Given the description of an element on the screen output the (x, y) to click on. 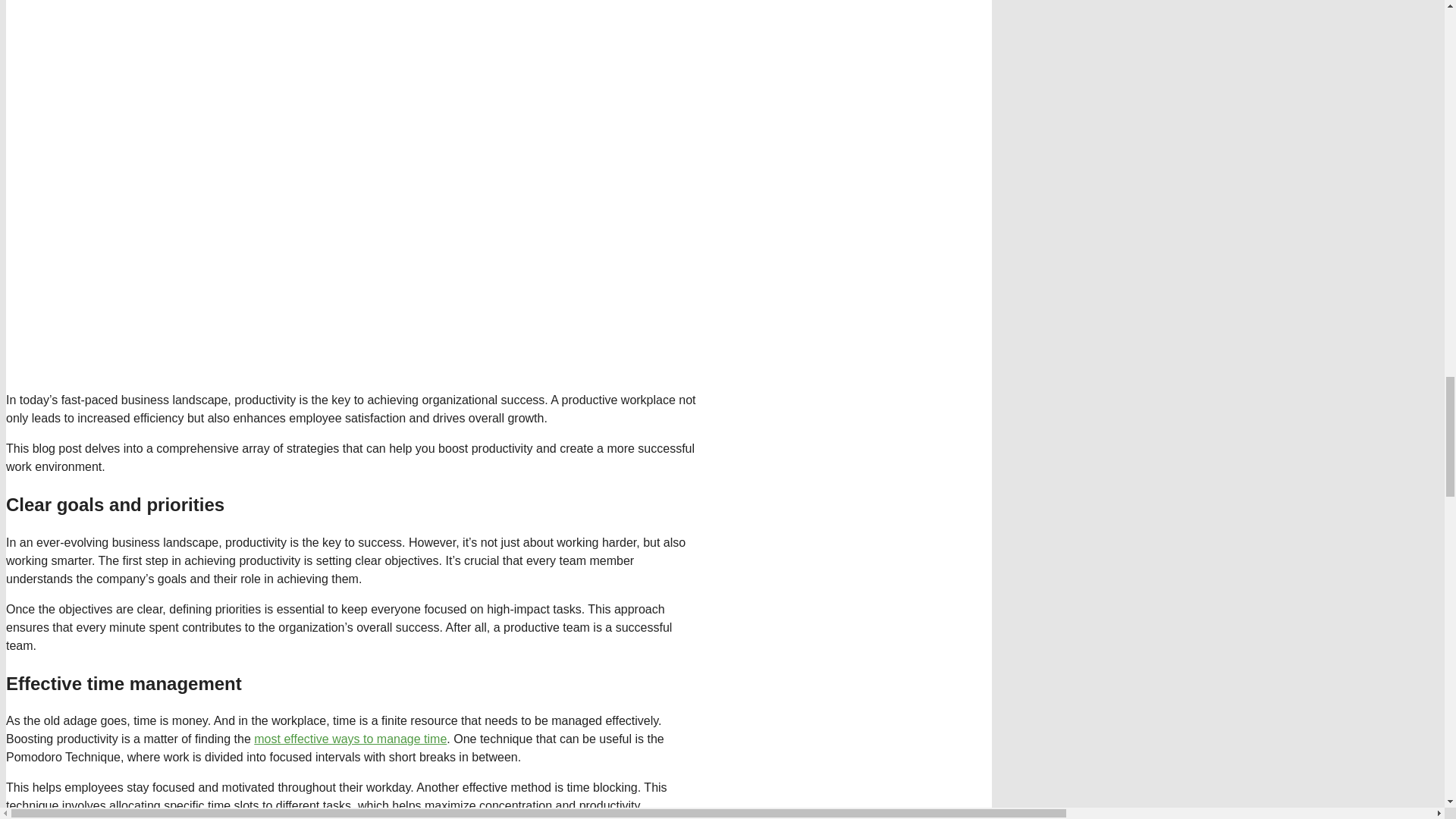
most effective ways to manage time (349, 738)
